Given the description of an element on the screen output the (x, y) to click on. 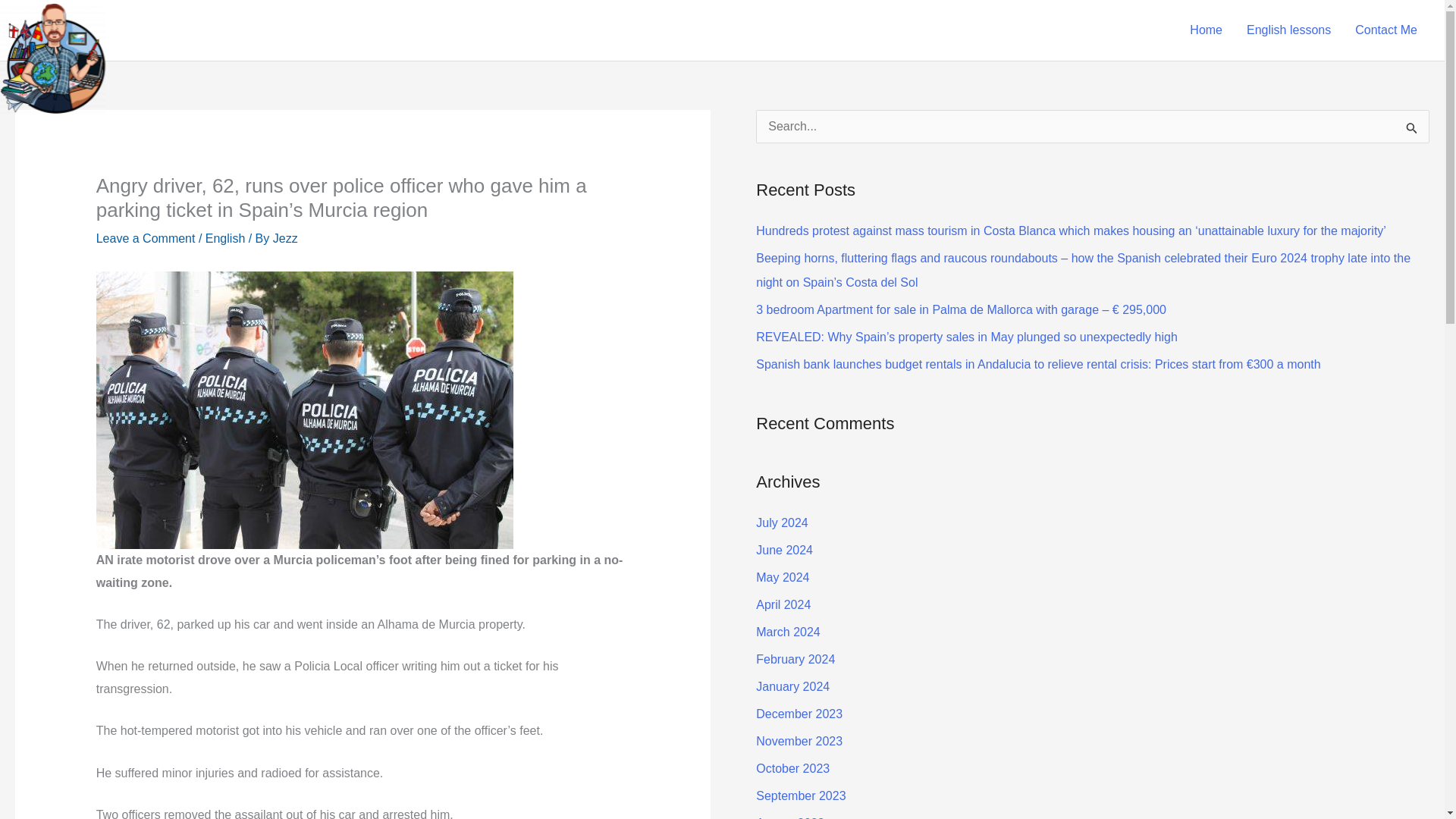
December 2023 (799, 713)
May 2024 (782, 576)
Jezz (285, 237)
Leave a Comment (145, 237)
English lessons (1288, 30)
April 2024 (782, 604)
Contact Me (1385, 30)
September 2023 (800, 795)
June 2024 (783, 549)
Home (1205, 30)
